Given the description of an element on the screen output the (x, y) to click on. 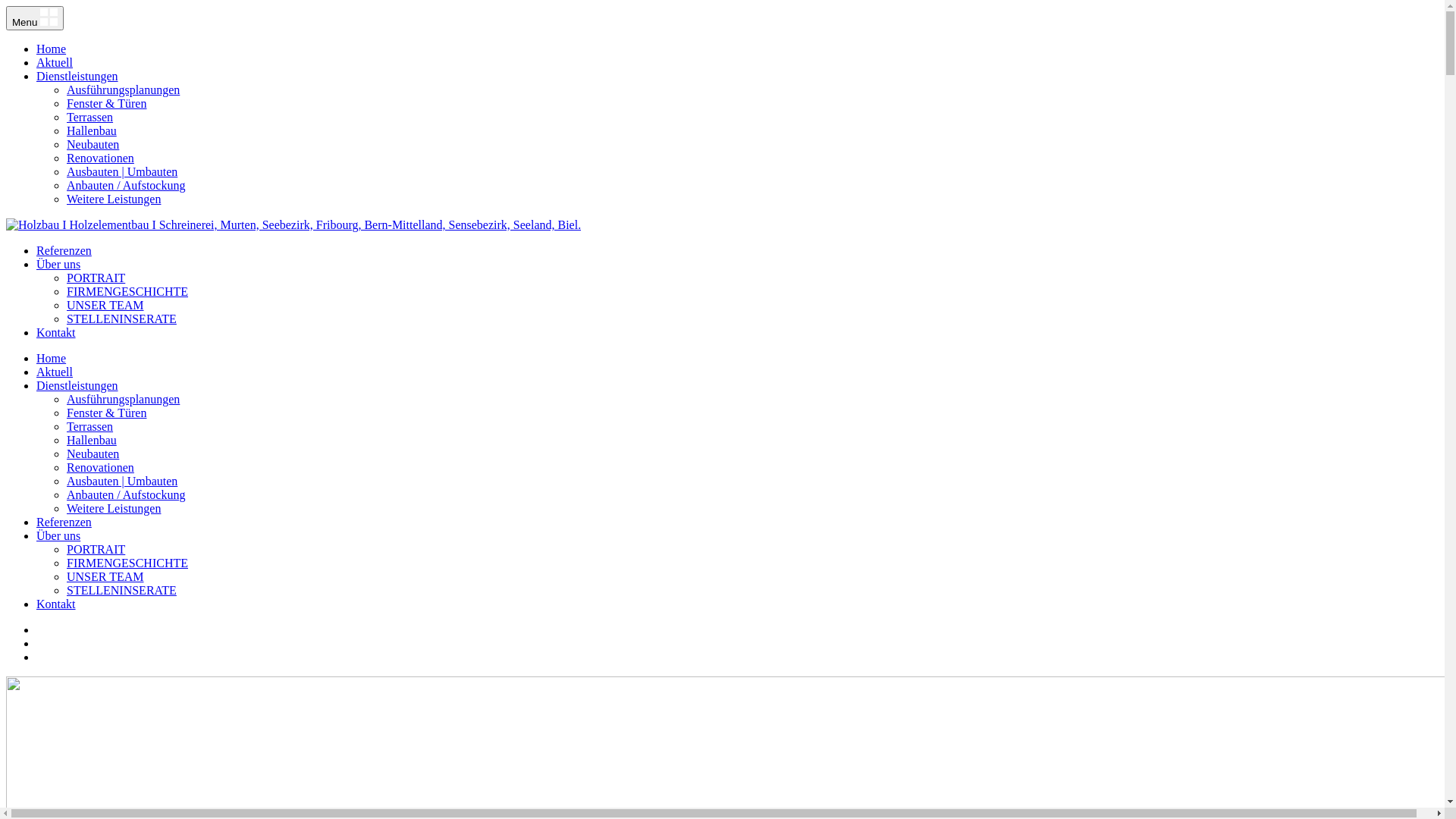
Kontakt Element type: text (55, 332)
Home Element type: text (50, 48)
Renovationen Element type: text (100, 157)
PORTRAIT Element type: text (95, 277)
Hallenbau Element type: text (91, 439)
Weitere Leistungen Element type: text (113, 508)
PORTRAIT Element type: text (95, 548)
Terrassen Element type: text (89, 426)
Aktuell Element type: text (54, 371)
BAUWEISE HOLZBAU AG Element type: hover (293, 224)
STELLENINSERATE Element type: text (121, 318)
Anbauten / Aufstockung Element type: text (125, 494)
Anbauten / Aufstockung Element type: text (125, 184)
Kontakt Element type: text (55, 603)
Ausbauten | Umbauten Element type: text (121, 480)
FIRMENGESCHICHTE Element type: text (127, 562)
Referenzen Element type: text (63, 250)
Neubauten Element type: text (92, 453)
Referenzen Element type: text (63, 521)
Hallenbau Element type: text (91, 130)
Weitere Leistungen Element type: text (113, 198)
Neubauten Element type: text (92, 144)
UNSER TEAM Element type: text (105, 304)
Dienstleistungen Element type: text (77, 385)
Terrassen Element type: text (89, 116)
FIRMENGESCHICHTE Element type: text (127, 291)
Aktuell Element type: text (54, 62)
Home Element type: text (50, 357)
STELLENINSERATE Element type: text (121, 589)
Menu Element type: text (34, 18)
UNSER TEAM Element type: text (105, 576)
Ausbauten | Umbauten Element type: text (121, 171)
Renovationen Element type: text (100, 467)
Dienstleistungen Element type: text (77, 75)
